Given the description of an element on the screen output the (x, y) to click on. 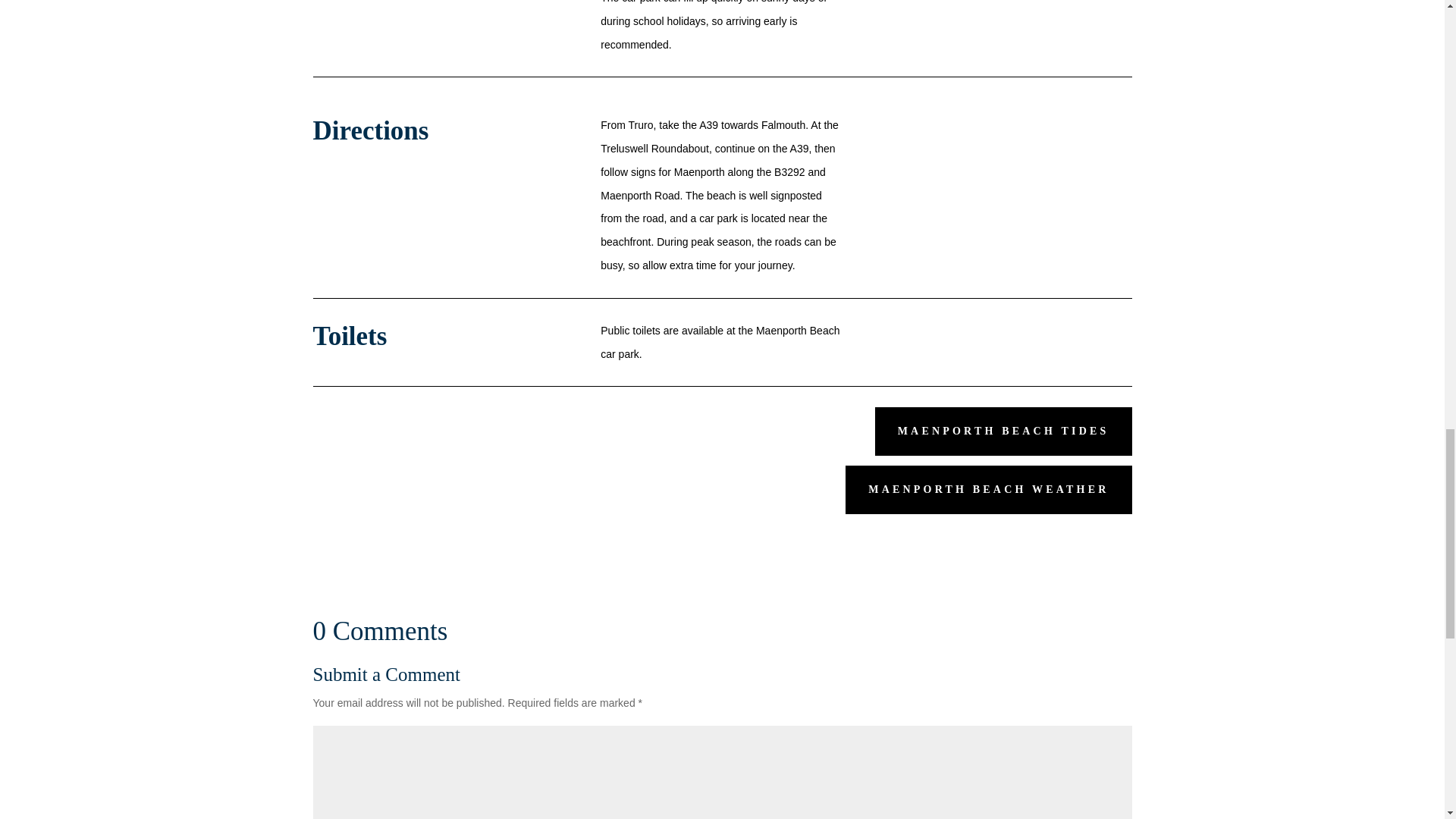
MAENPORTH BEACH TIDES (1003, 431)
MAENPORTH BEACH WEATHER (988, 490)
